Given the description of an element on the screen output the (x, y) to click on. 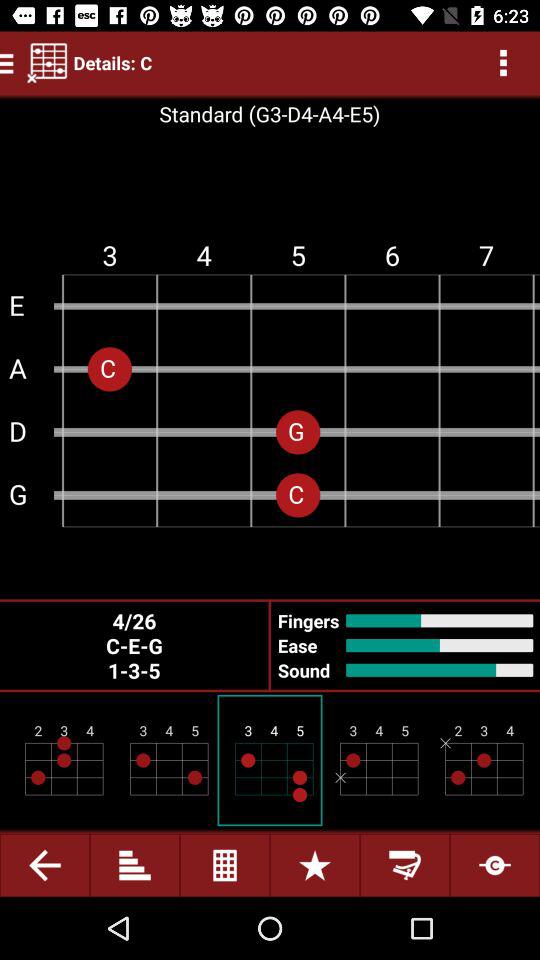
select the button which is on the bottom right corner of the page (495, 865)
select text standardg3d4a4e5 (269, 113)
select right bottom corner icon (494, 865)
click on the left  side of the text delailsc (47, 63)
select the fifth icon from the bottom (404, 865)
